Given the description of an element on the screen output the (x, y) to click on. 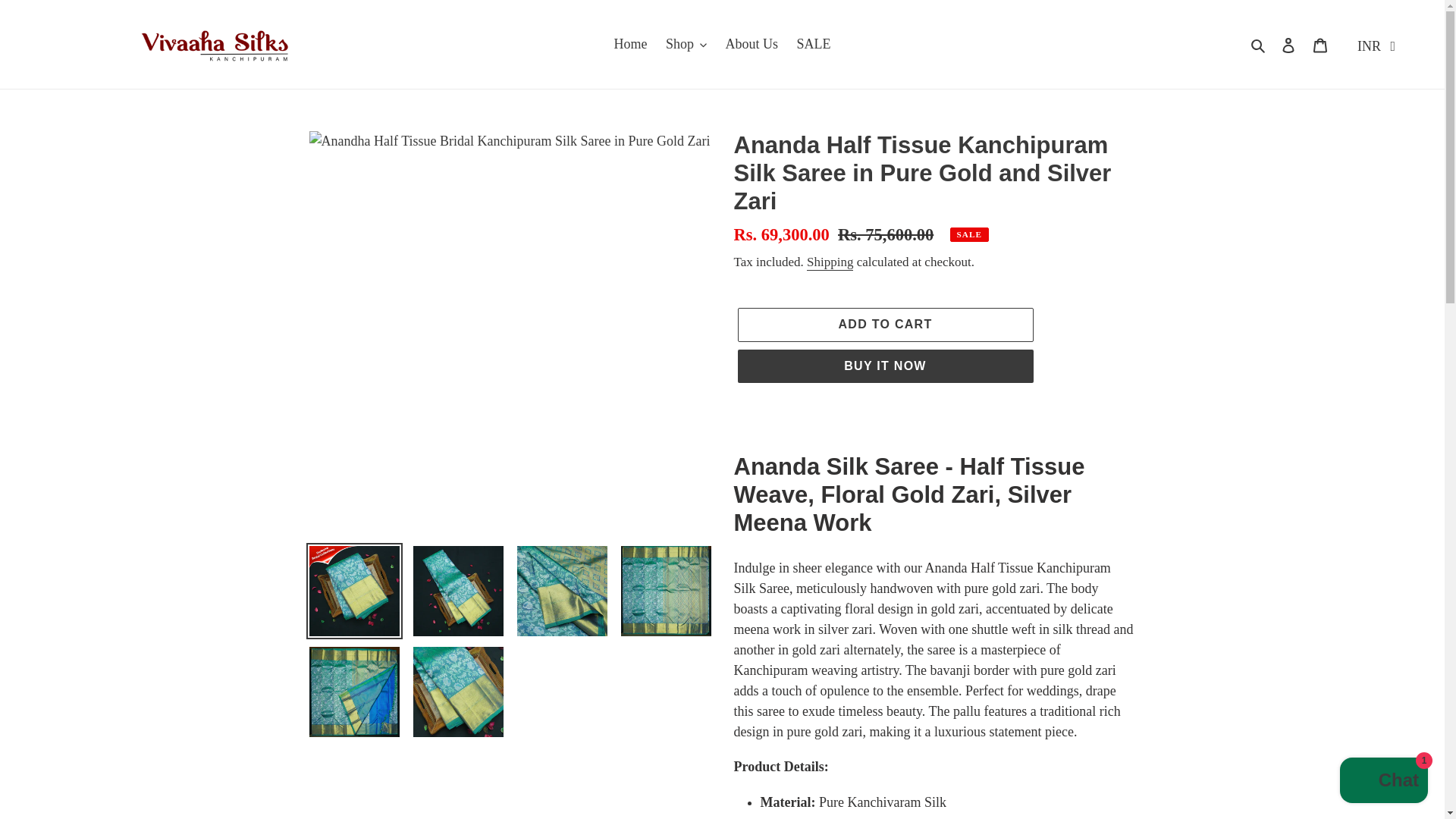
Search (1259, 44)
Cart (1320, 44)
Home (629, 43)
Log in (1288, 44)
Shopify online store chat (1383, 781)
SALE (813, 43)
About Us (751, 43)
Shop (686, 43)
